Given the description of an element on the screen output the (x, y) to click on. 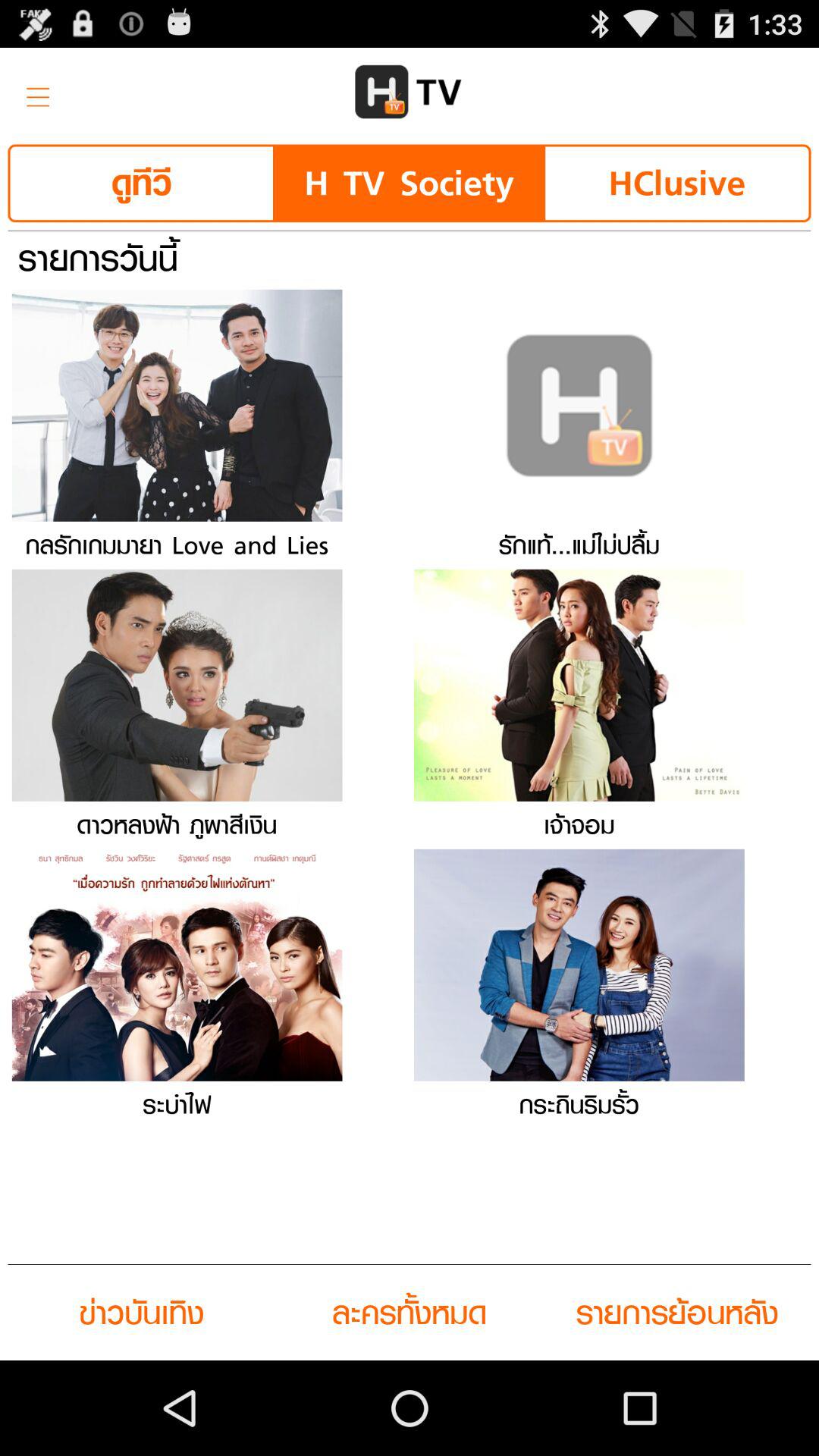
flip to the hclusive icon (677, 183)
